Given the description of an element on the screen output the (x, y) to click on. 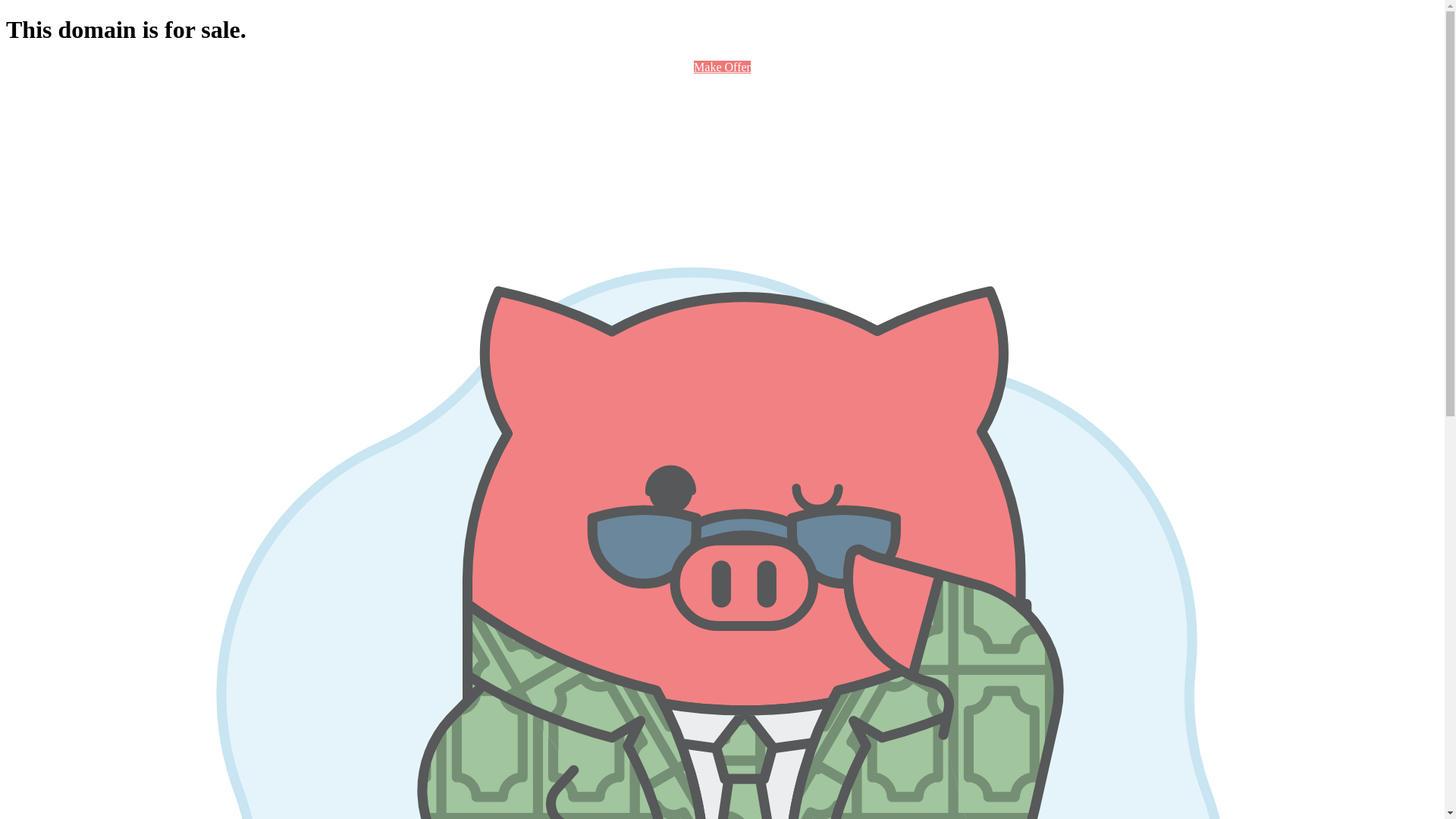
Make Offer Element type: text (721, 66)
